Given the description of an element on the screen output the (x, y) to click on. 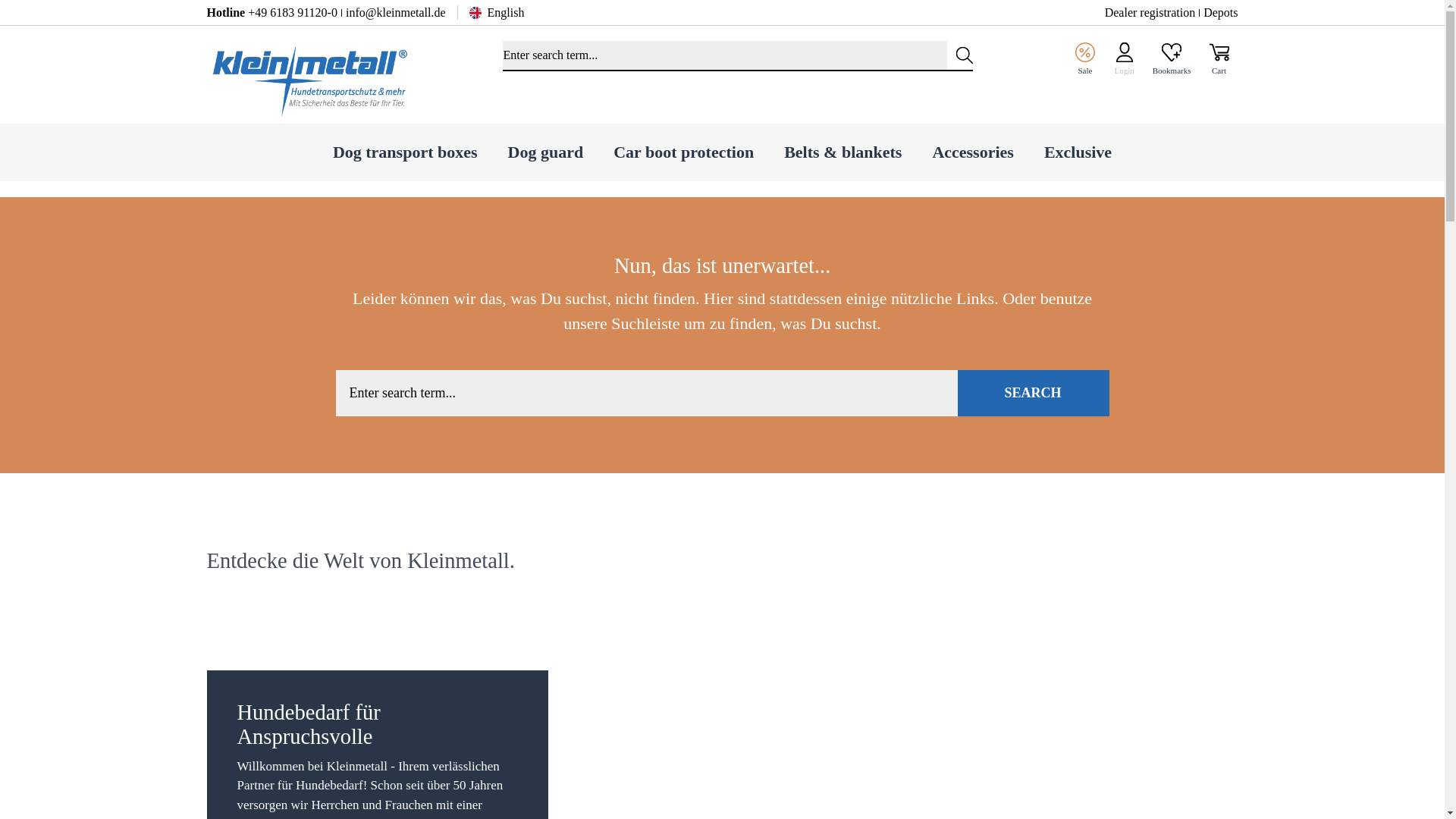
Login (1123, 58)
Your account (1123, 58)
Dealer registration (1150, 12)
Sale (1084, 58)
English (504, 11)
Dealer registration (1150, 12)
Bookmarks (1170, 58)
Depots (1220, 12)
Sale (1084, 58)
Shopping cart (1218, 58)
Go to homepage (308, 78)
Wishlist (1170, 58)
Depots (1220, 12)
Cart (1218, 58)
